Given the description of an element on the screen output the (x, y) to click on. 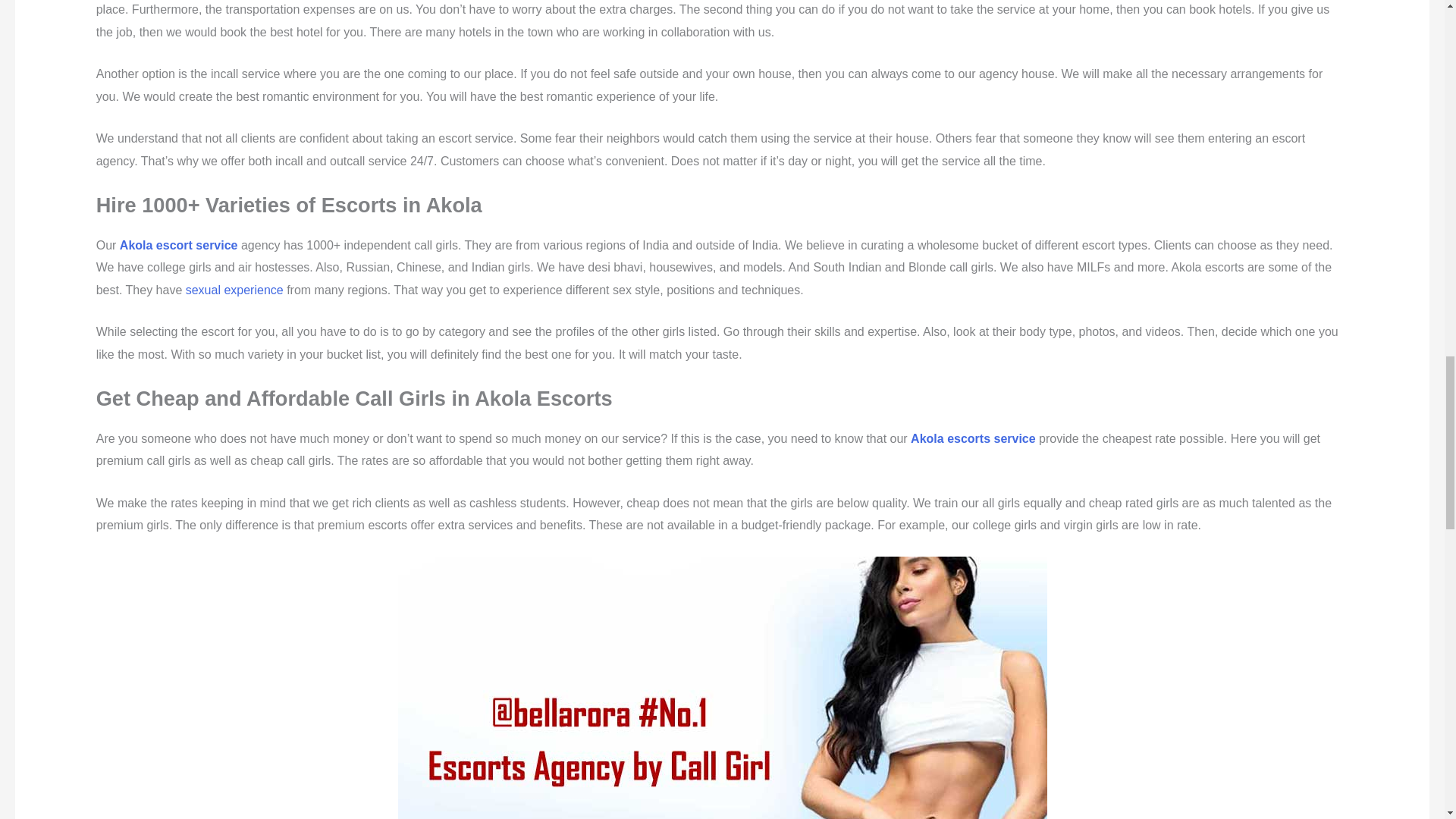
sexual experience (234, 289)
Akola escorts service (973, 438)
Akola escort service (178, 245)
